Given the description of an element on the screen output the (x, y) to click on. 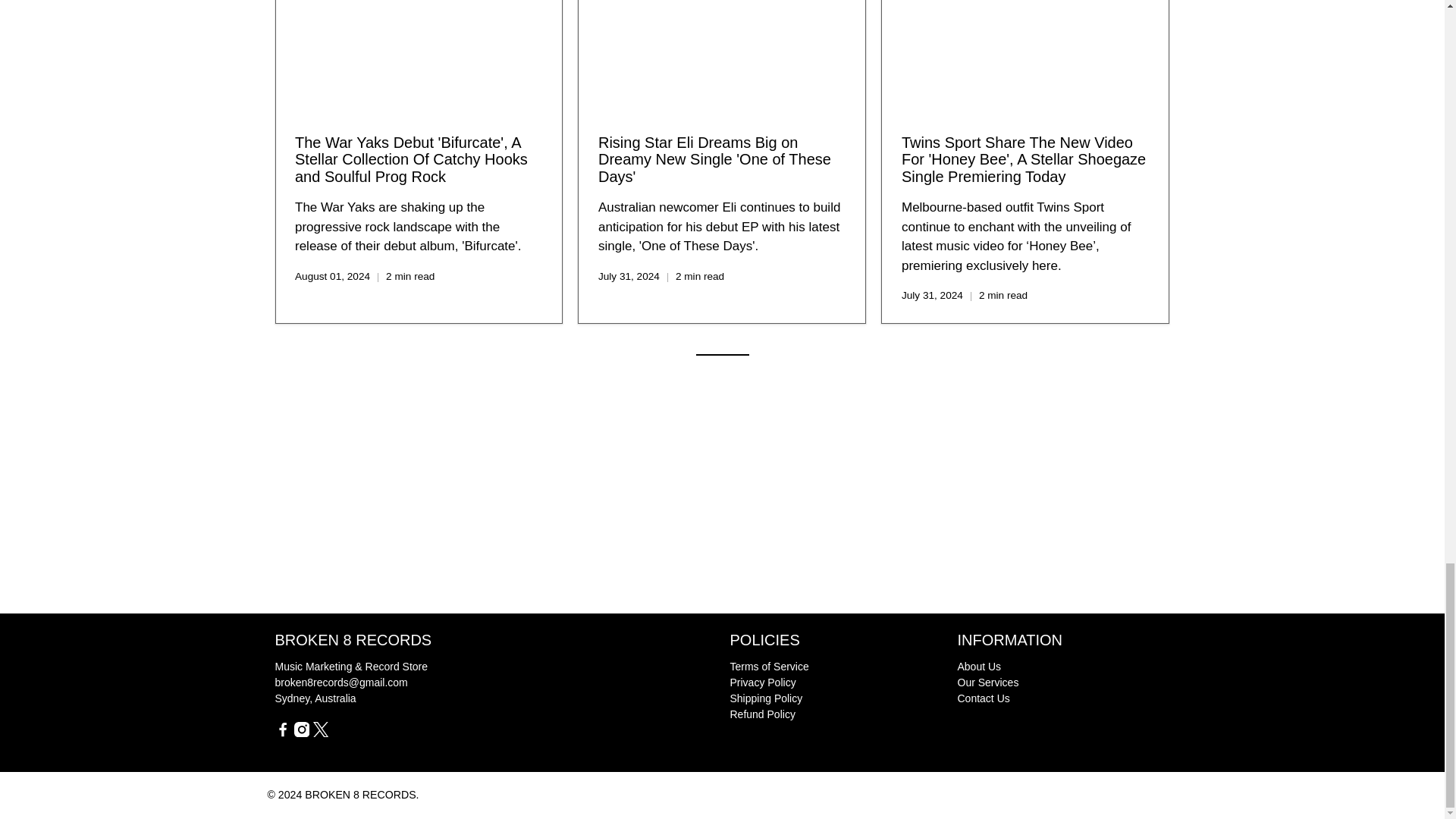
BROKEN 8 RECORDS on Facebook (282, 733)
